Given the description of an element on the screen output the (x, y) to click on. 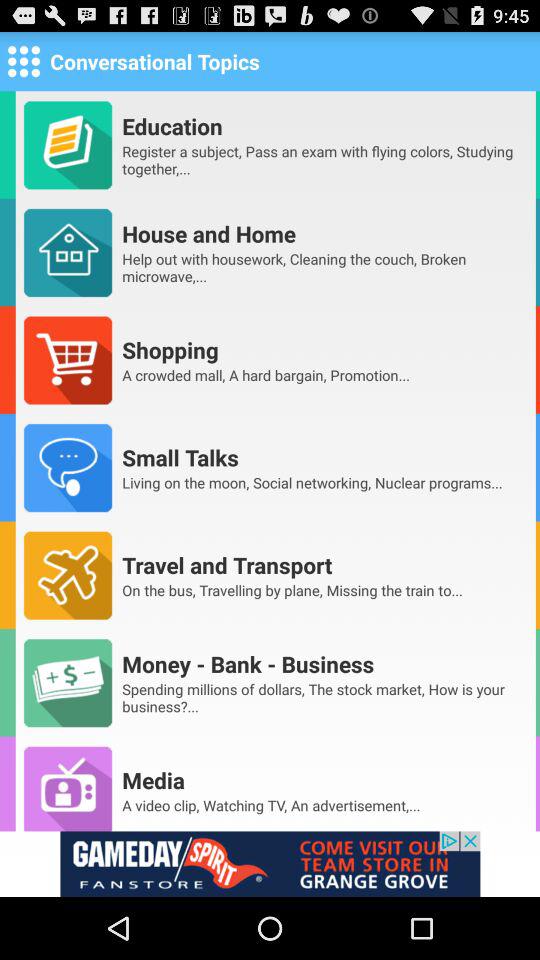
this option is advertisements (270, 864)
